Given the description of an element on the screen output the (x, y) to click on. 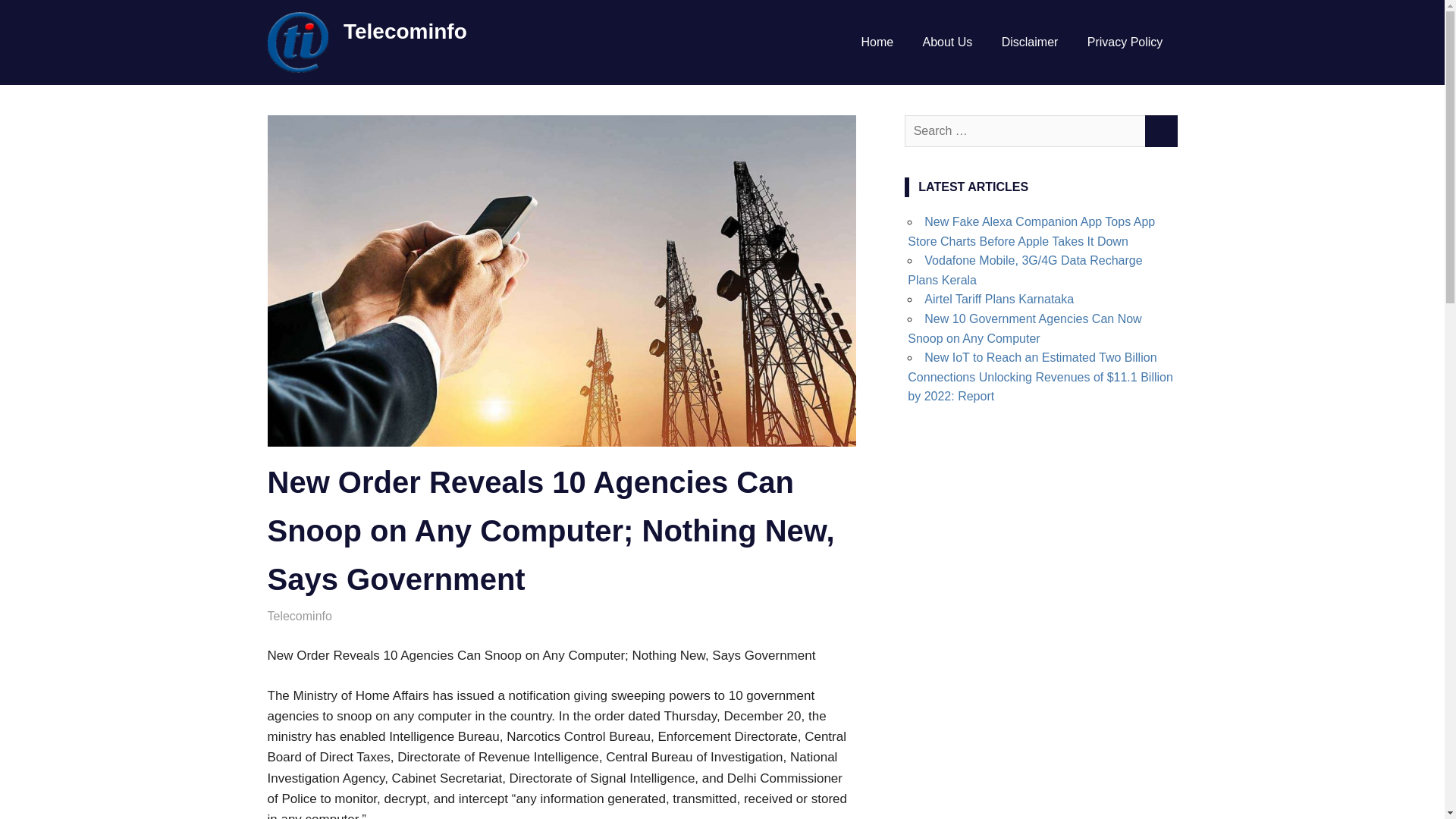
Home (876, 42)
Search for: (1024, 131)
SEARCH (1160, 131)
About Us (947, 42)
Disclaimer (1030, 42)
Airtel Tariff Plans Karnataka (999, 298)
Telecominfo (298, 615)
May 16, 2022 (303, 615)
Privacy Policy (1125, 42)
New 10 Government Agencies Can Now Snoop on Any Computer (1024, 328)
10:51 PM (303, 615)
Telecominfo (405, 31)
View all posts by Telecominfo (298, 615)
